Given the description of an element on the screen output the (x, y) to click on. 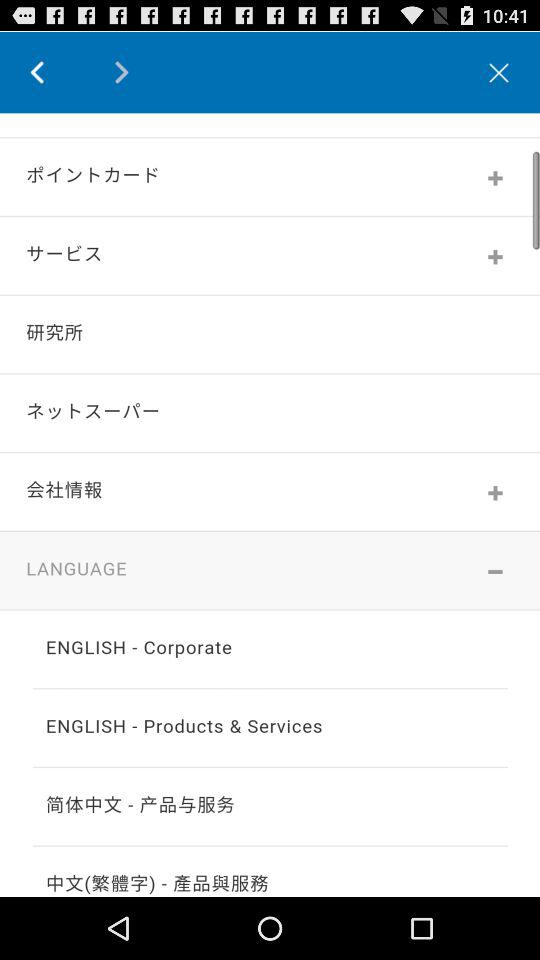
close the window (499, 71)
